Given the description of an element on the screen output the (x, y) to click on. 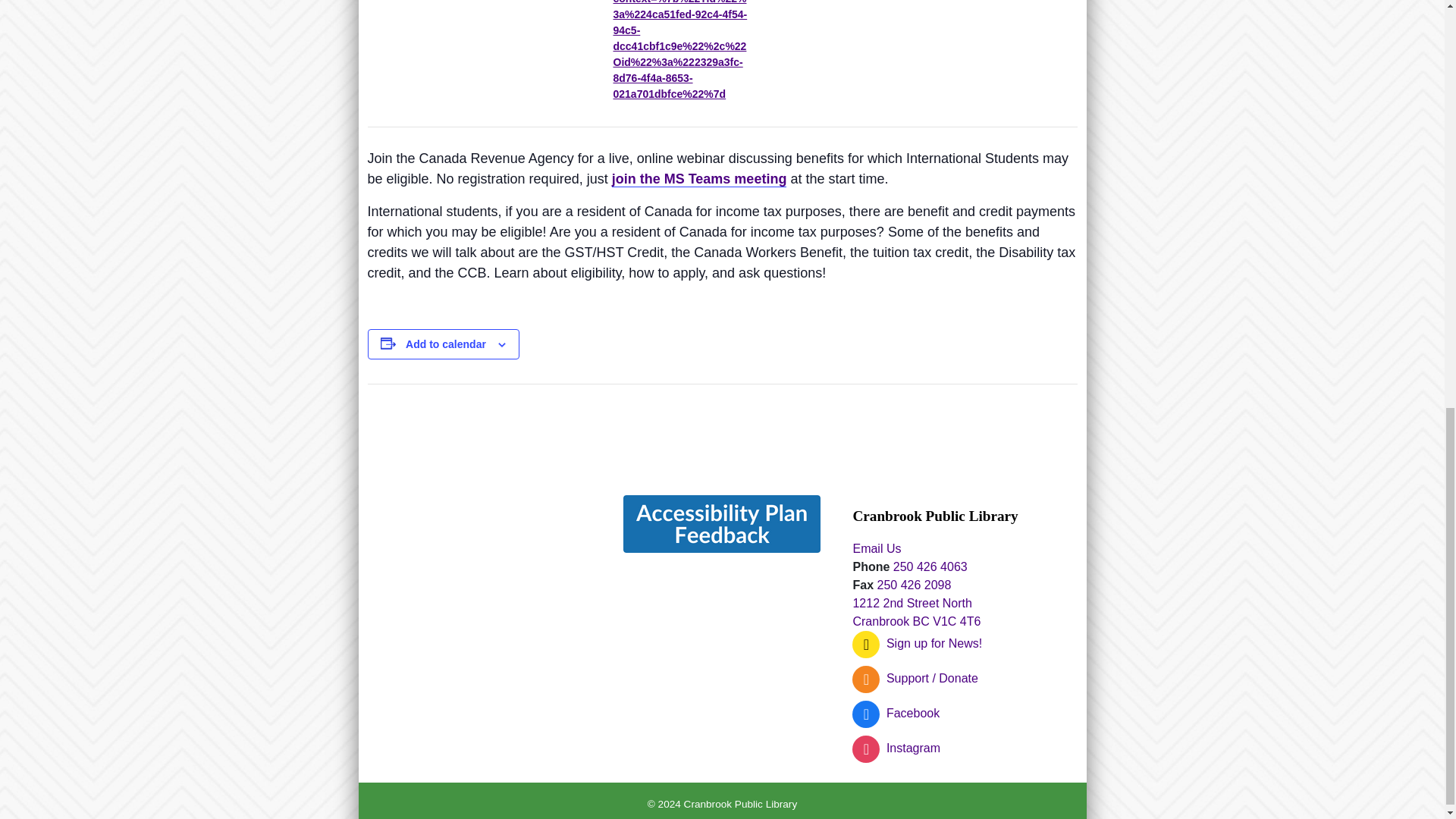
Facebook (895, 712)
Sign up for News! (916, 643)
Google Maps (478, 608)
